Given the description of an element on the screen output the (x, y) to click on. 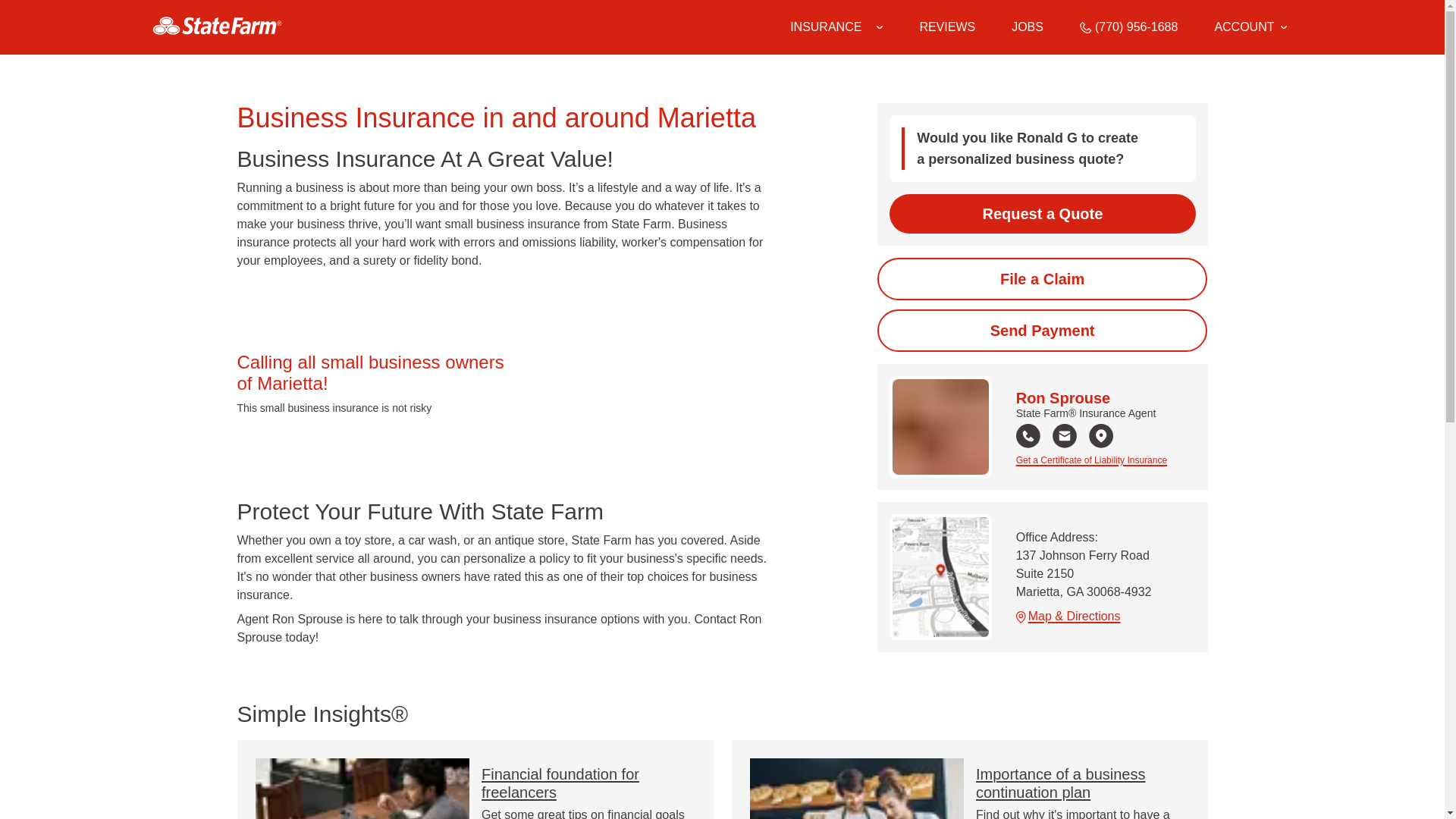
ACCOUNT (1250, 27)
Insurance (836, 27)
REVIEWS (946, 27)
Account Options (1250, 27)
JOBS (1027, 27)
Start the claim process online (1042, 278)
INSURANCE (825, 27)
Request a Quote (1042, 213)
